Given the description of an element on the screen output the (x, y) to click on. 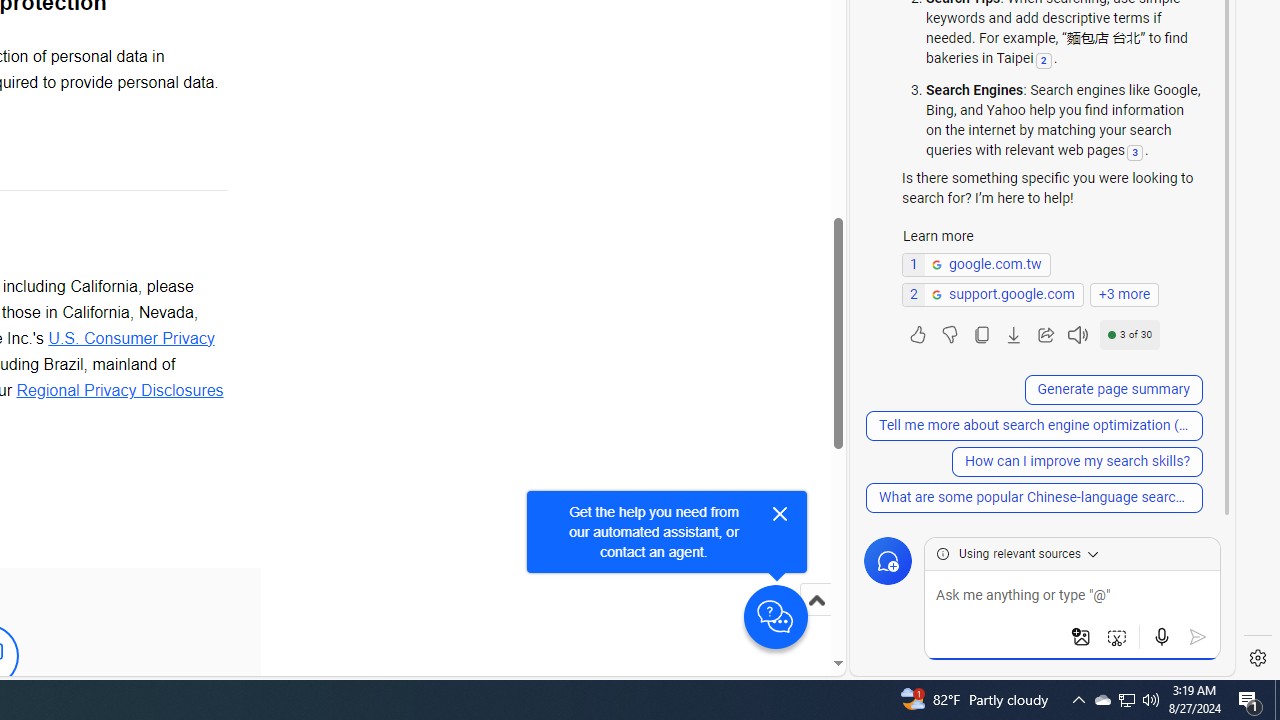
Regional Privacy Disclosures - opens in new window or tab (119, 389)
Scroll to top (816, 620)
Scroll to top (816, 599)
